Given the description of an element on the screen output the (x, y) to click on. 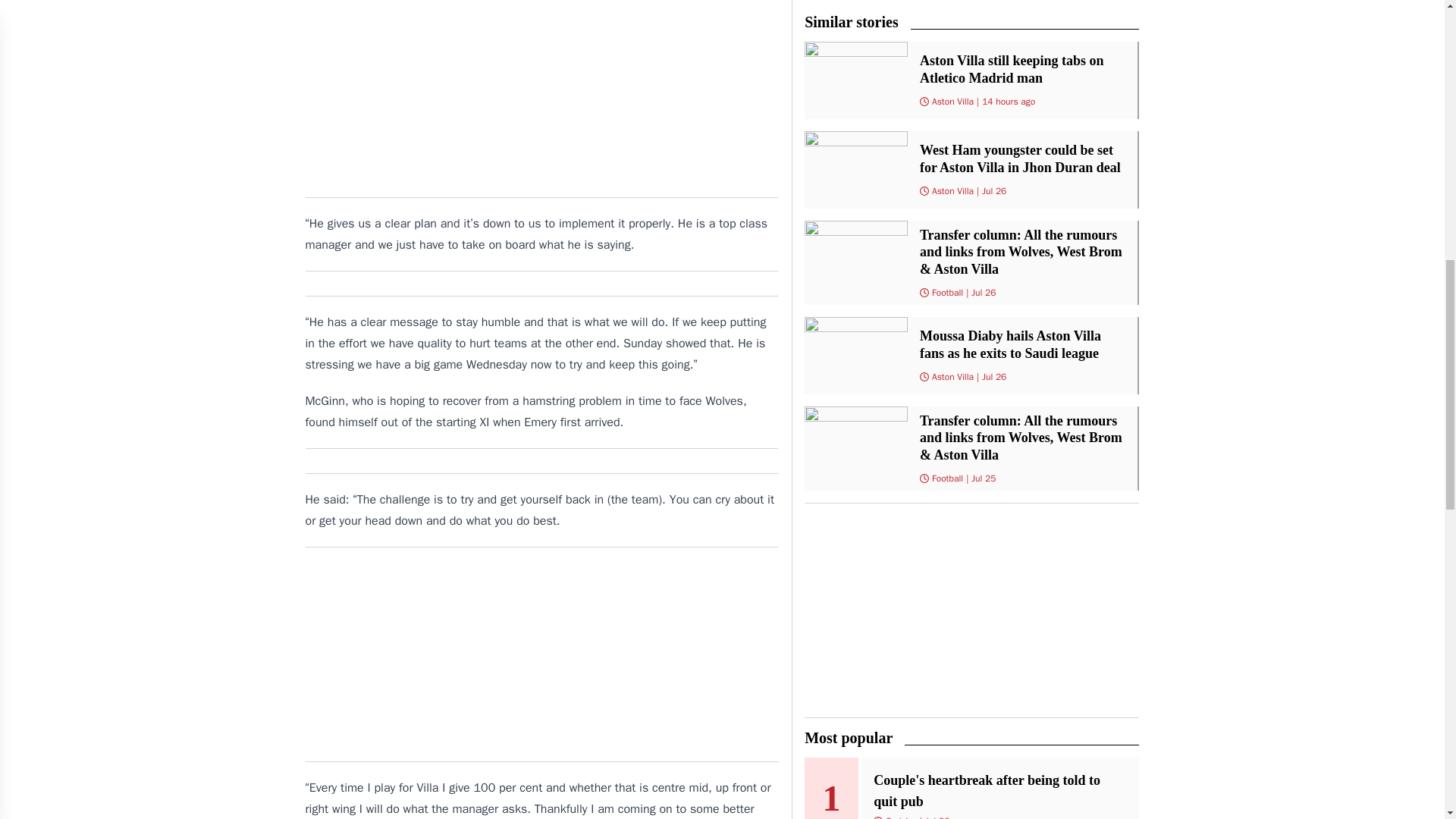
Sedgley (901, 816)
Aston Villa (952, 191)
Aston Villa (952, 101)
Aston Villa (952, 377)
Football (946, 478)
Football (946, 292)
